Given the description of an element on the screen output the (x, y) to click on. 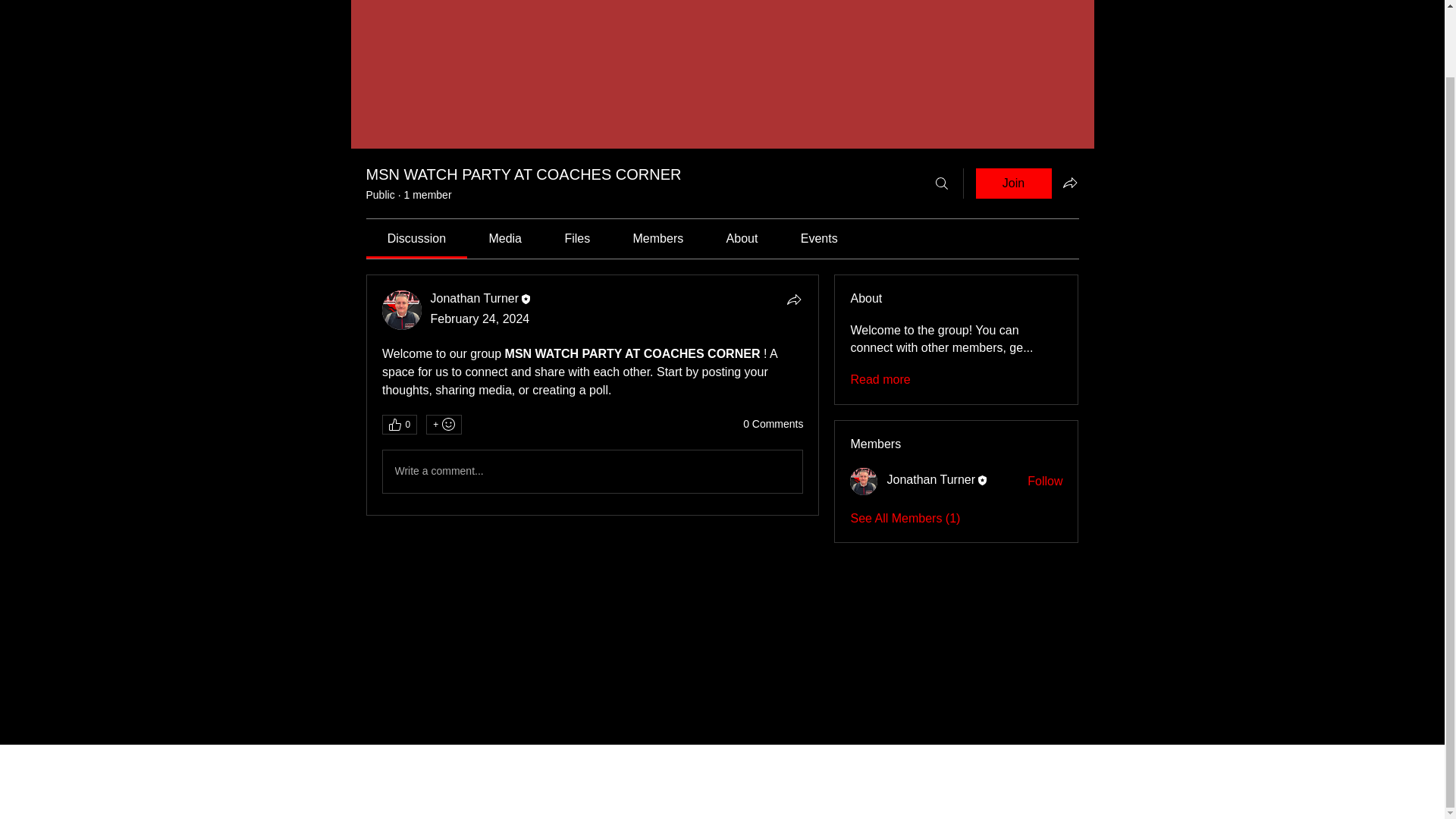
Jonathan Turner (401, 310)
Jonathan Turner (474, 297)
Jonathan Turner (863, 481)
Jonathan Turner (930, 479)
